Given the description of an element on the screen output the (x, y) to click on. 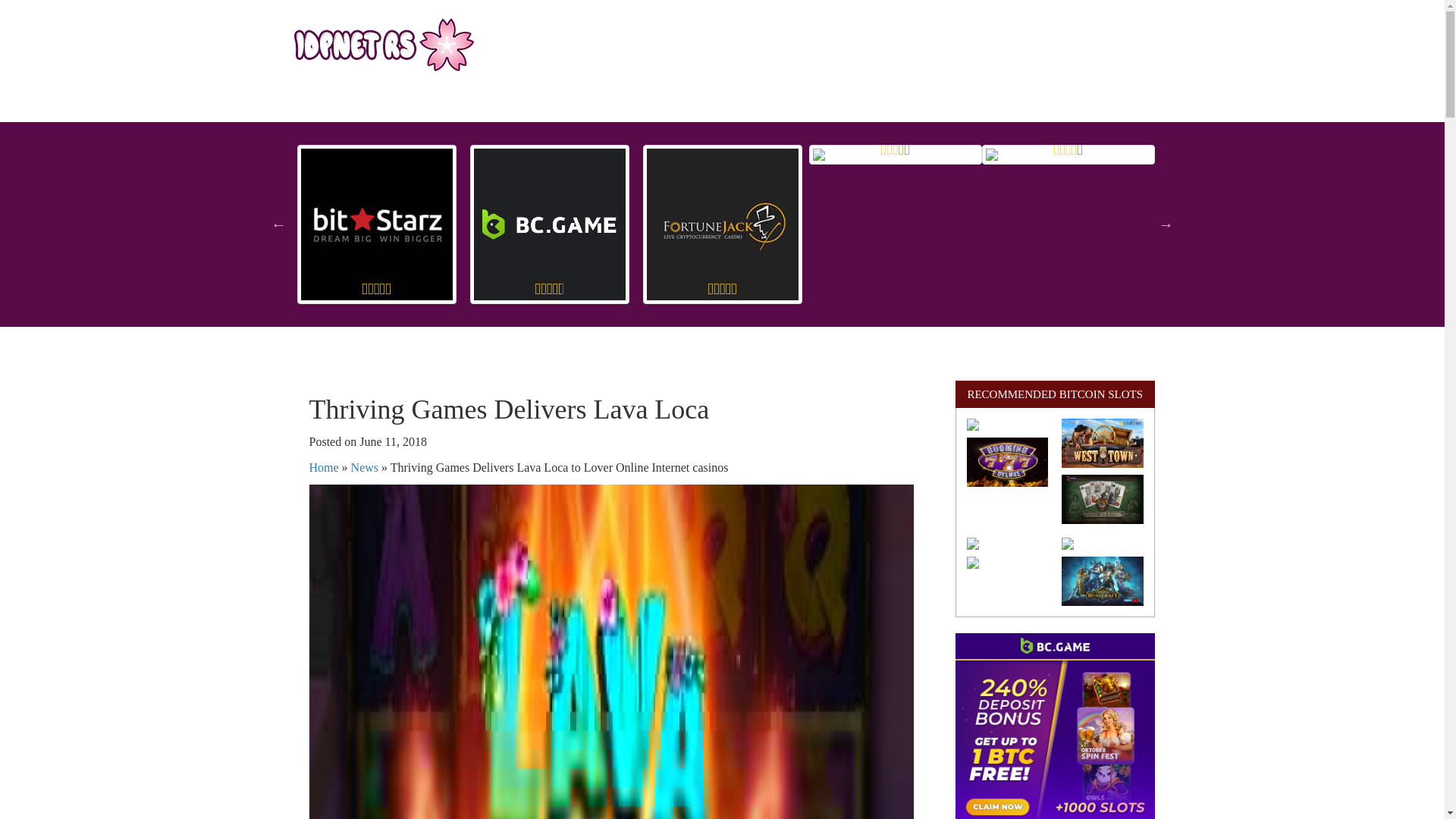
CONTACT US (1091, 102)
BITCOIN CASINO (420, 102)
HOME (335, 102)
NEWS (1017, 102)
BITCOIN CASINO REVIEW (552, 102)
BITCOIN CASINO BONUS (914, 102)
PLAY SLOTS (675, 102)
GAME PROVIDERS (780, 102)
Previous (278, 224)
